Given the description of an element on the screen output the (x, y) to click on. 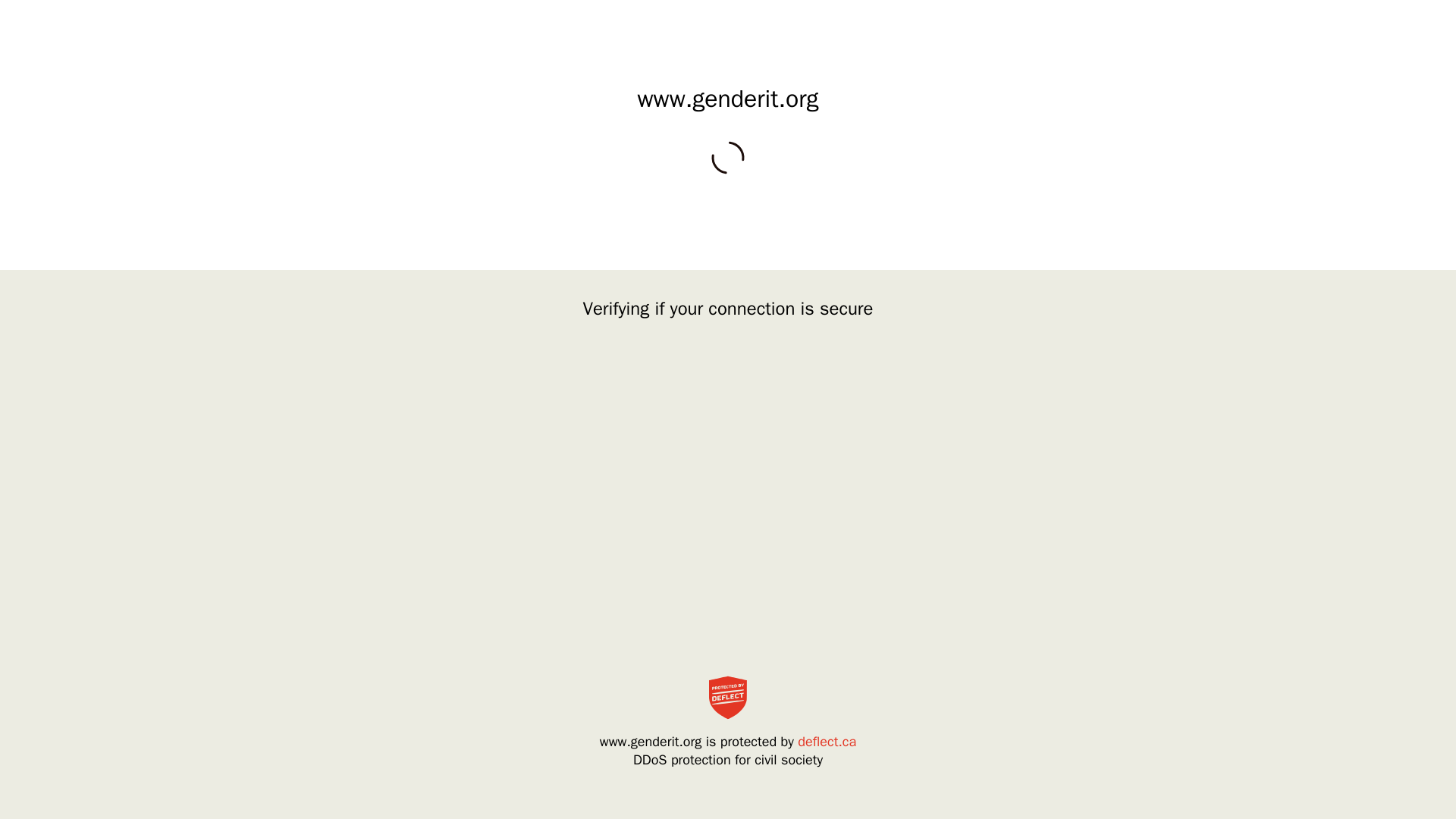
deflect.ca (826, 741)
